Given the description of an element on the screen output the (x, y) to click on. 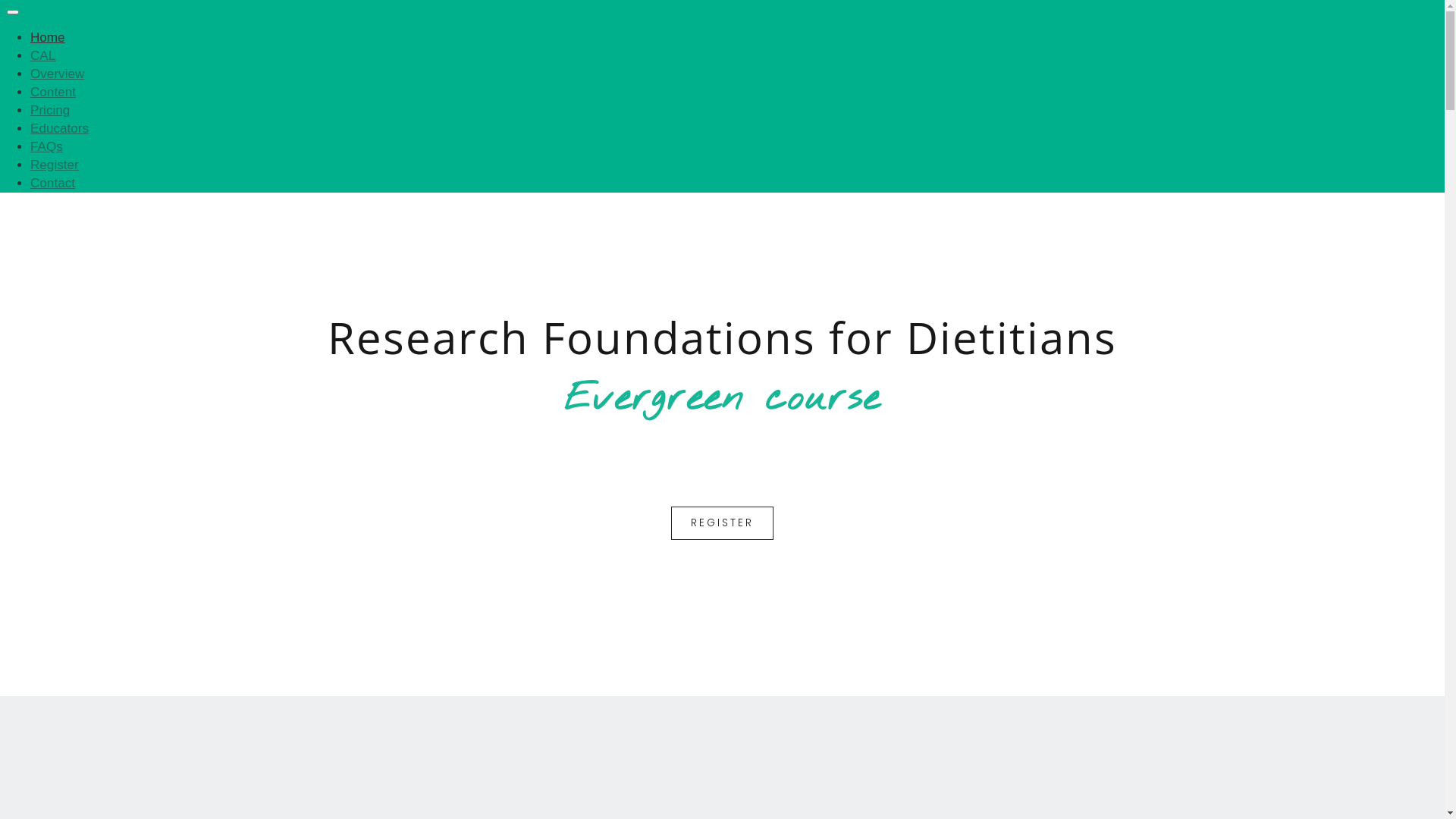
  Element type: text (1, 7)
Pricing Element type: text (49, 110)
Content Element type: text (52, 91)
CAL Element type: text (42, 55)
Register Element type: text (54, 164)
REGISTER Element type: text (722, 522)
FAQs Element type: text (46, 146)
Overview Element type: text (57, 73)
Home Element type: text (47, 37)
Educators Element type: text (59, 128)
Contact Element type: text (52, 182)
